Given the description of an element on the screen output the (x, y) to click on. 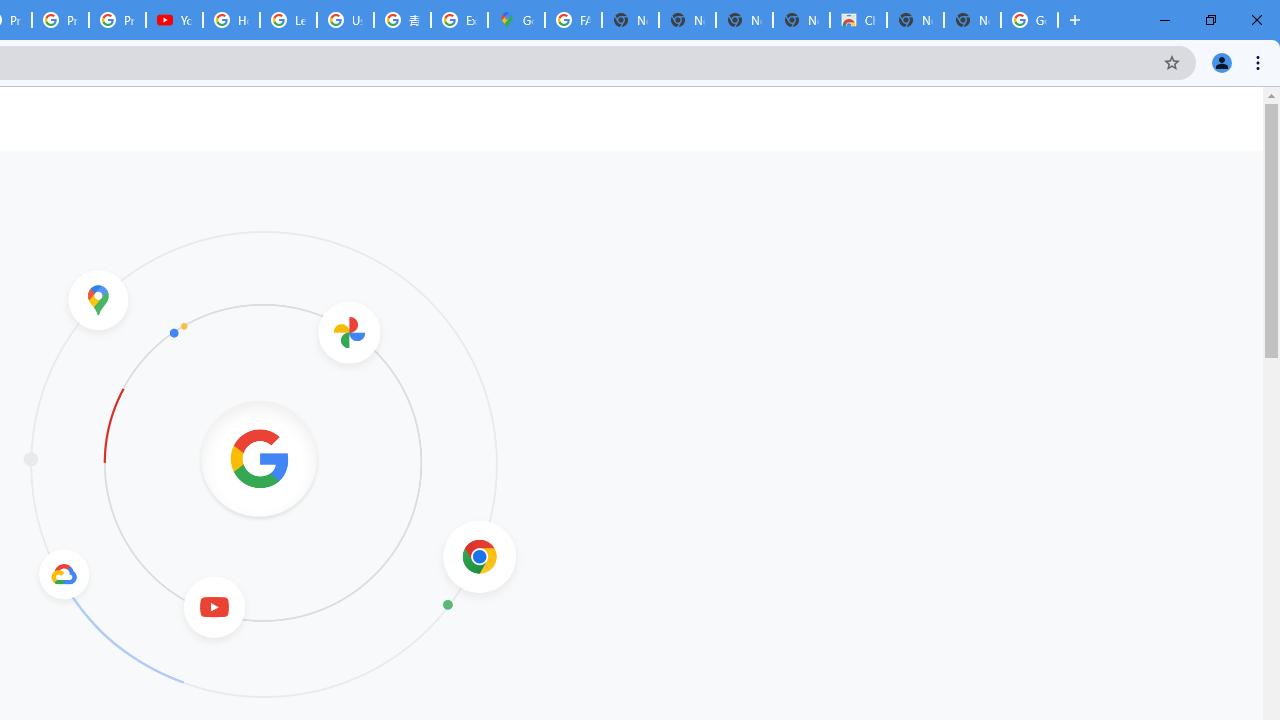
Google Images (1029, 20)
Google Maps (516, 20)
Privacy Checkup (116, 20)
